Given the description of an element on the screen output the (x, y) to click on. 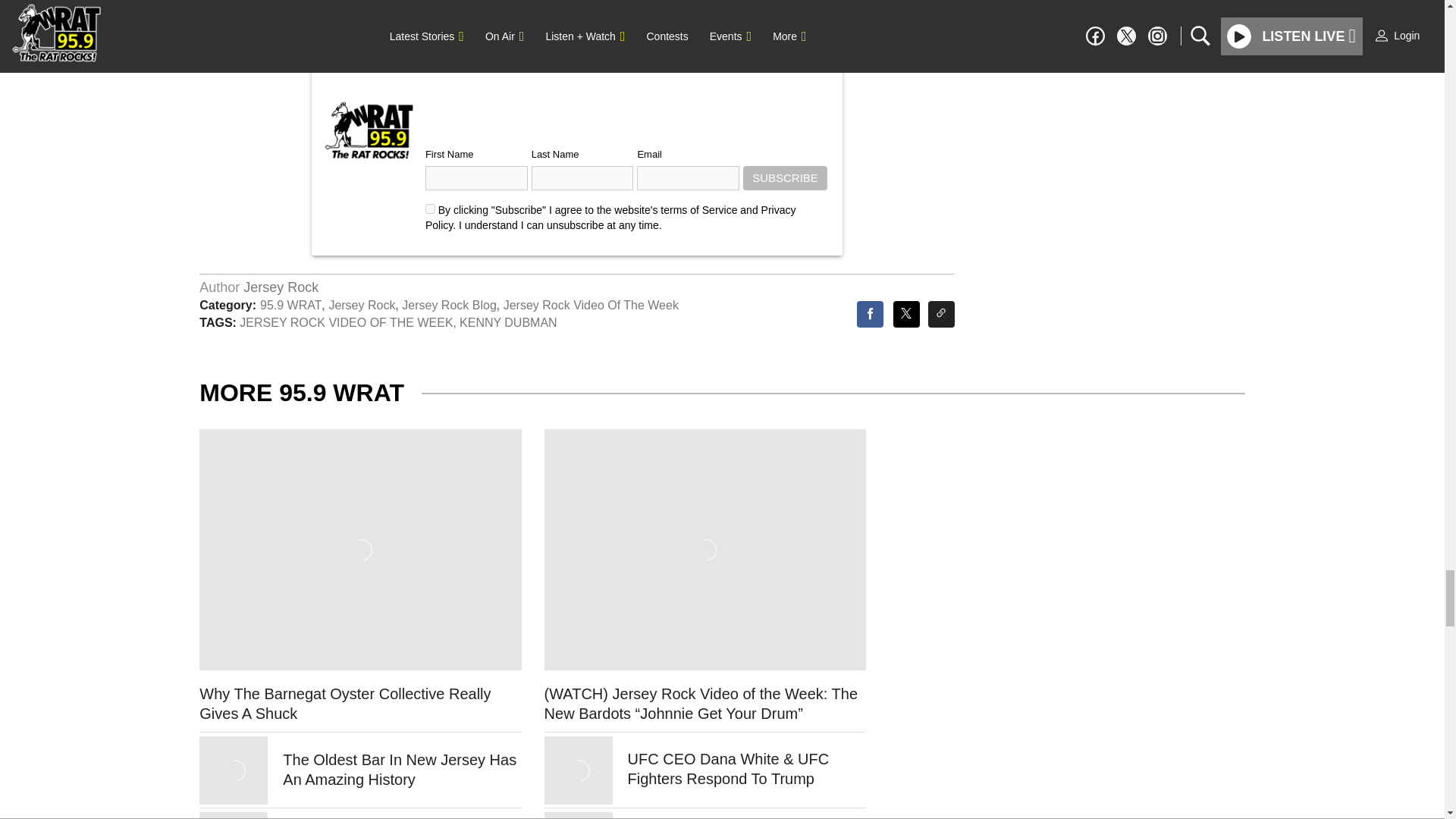
Jersey Rock (280, 287)
on (430, 208)
